Given the description of an element on the screen output the (x, y) to click on. 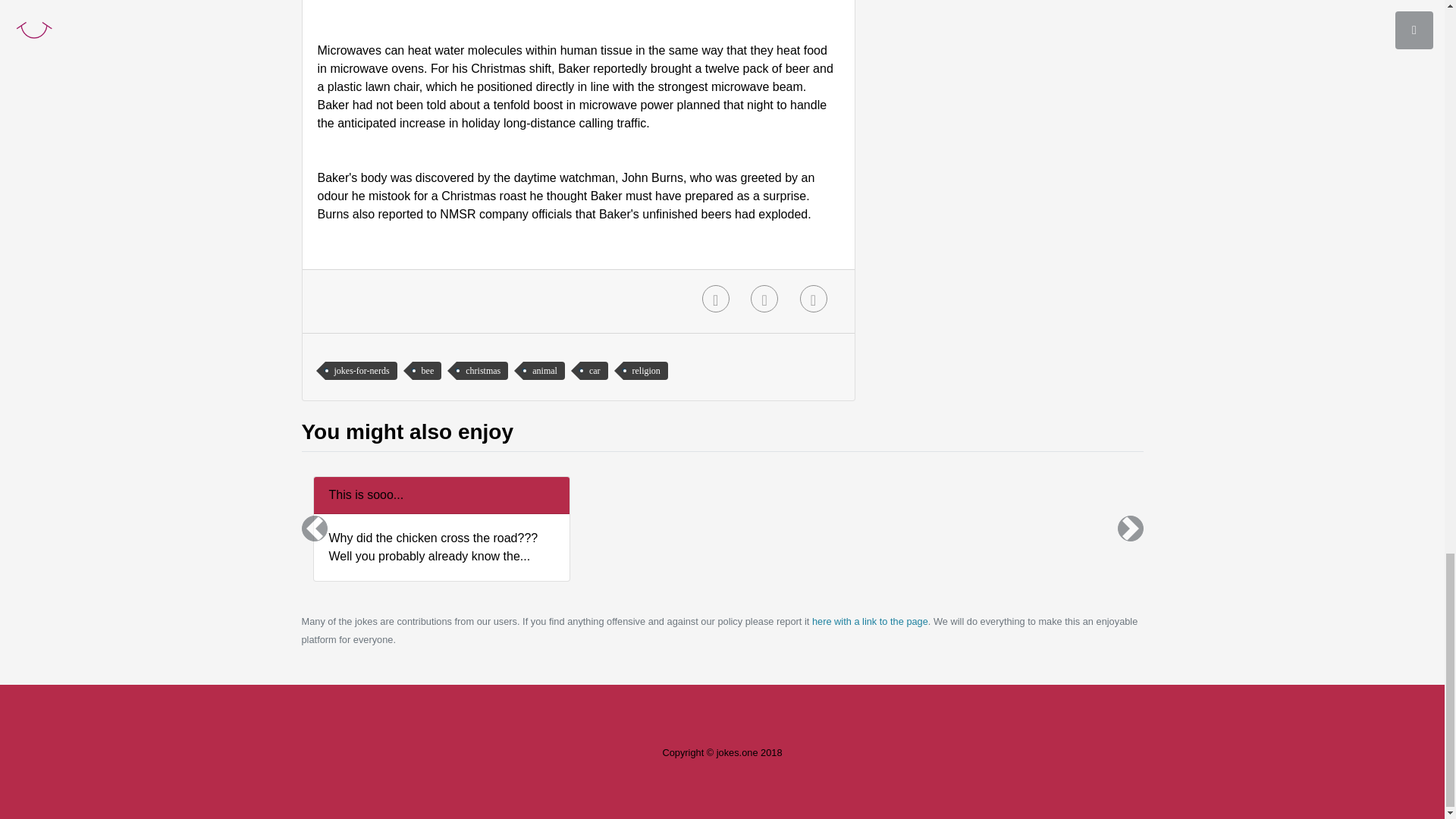
christmas (482, 370)
jokes-for-nerds (360, 370)
religion (645, 370)
Login to Bookmark this joke (715, 298)
animal (543, 370)
bee (427, 370)
car (593, 370)
